Given the description of an element on the screen output the (x, y) to click on. 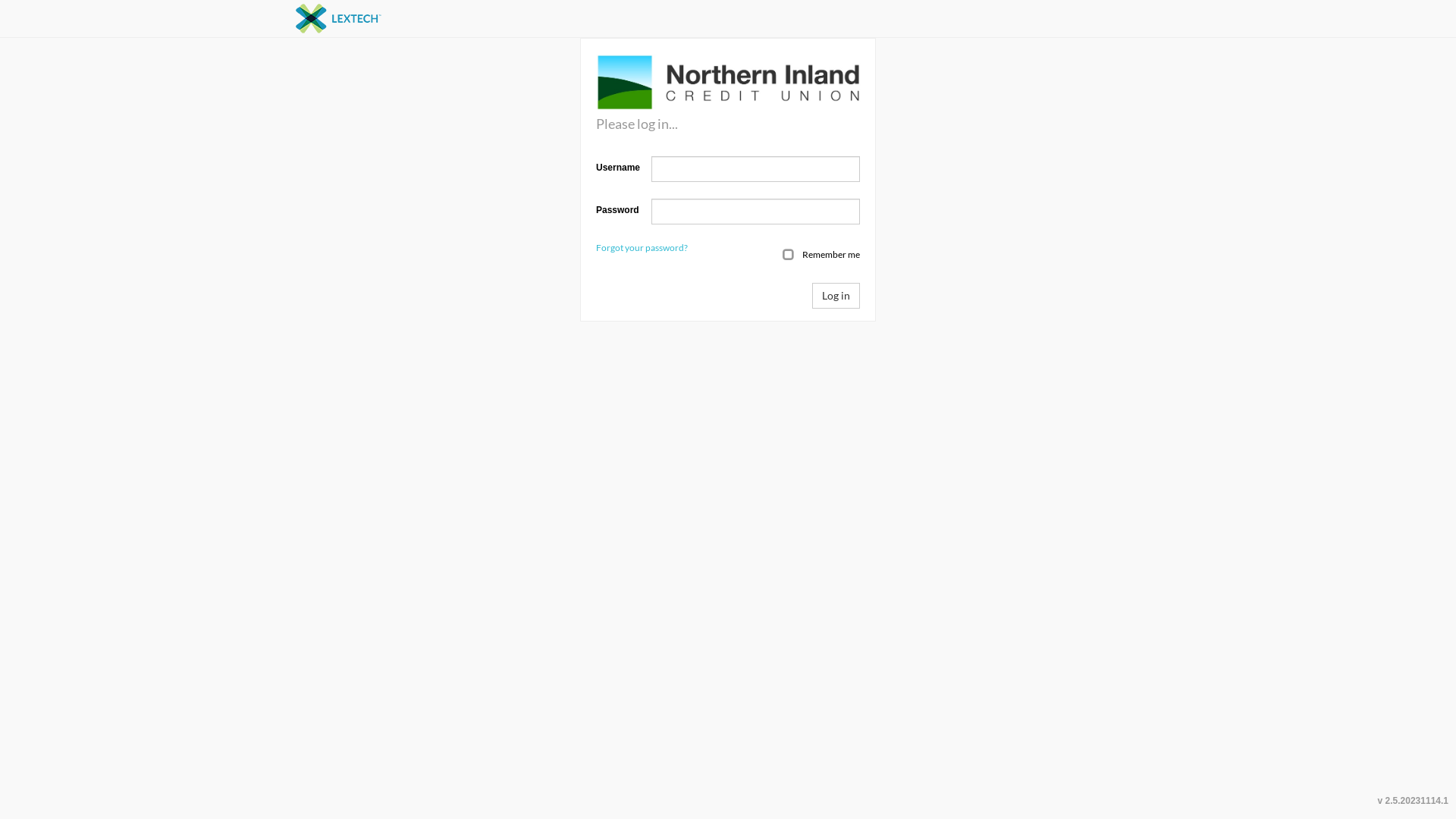
Log in Element type: text (835, 295)
Forgot your password? Element type: text (641, 247)
